Given the description of an element on the screen output the (x, y) to click on. 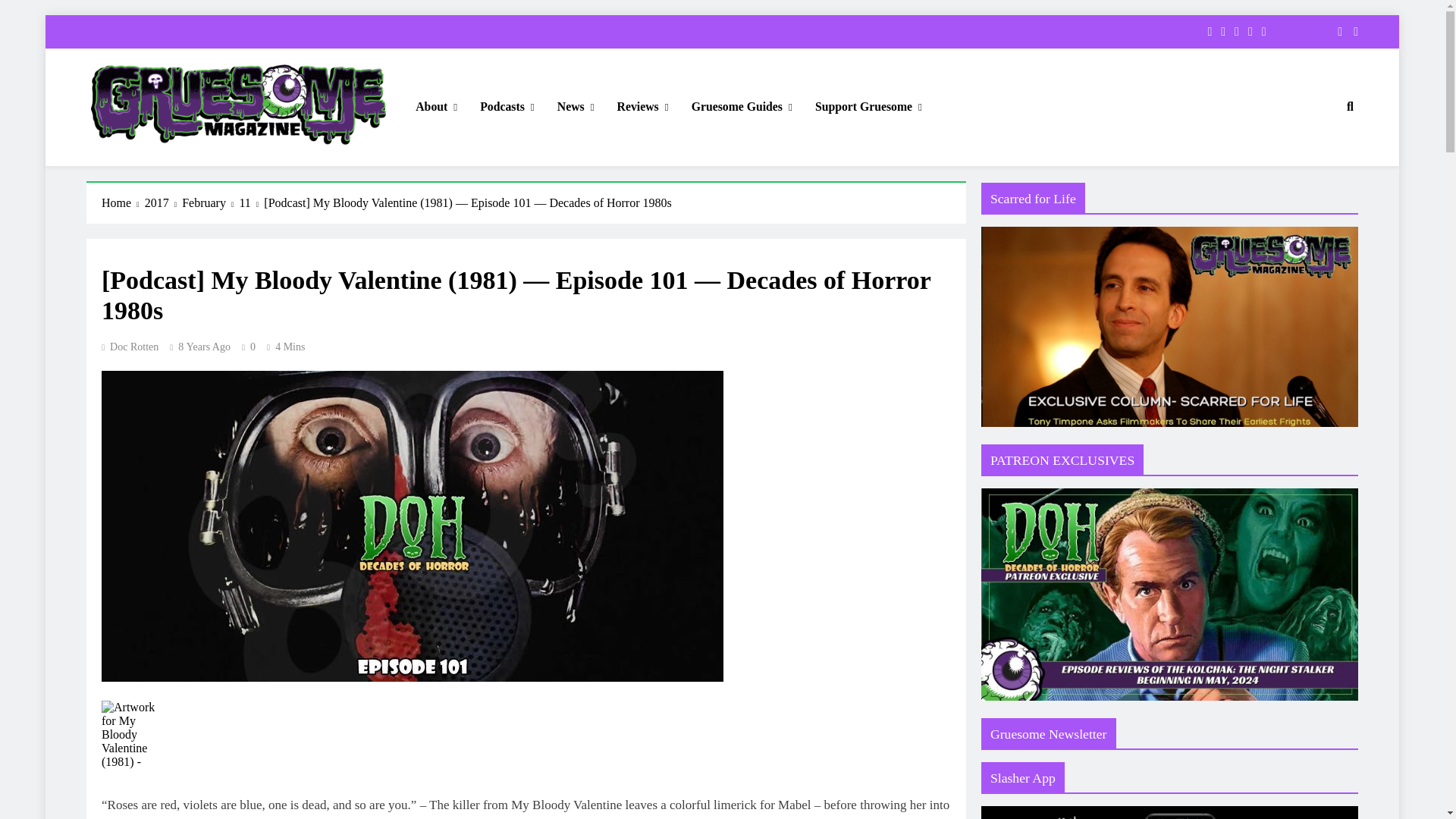
News (575, 106)
Gruesome Guides (741, 106)
Support Gruesome (868, 106)
Podcasts (507, 106)
Reviews (642, 106)
Gruesome Magazine (187, 167)
Guides to Theatrical and Streaming Movies (741, 106)
About (436, 106)
